Given the description of an element on the screen output the (x, y) to click on. 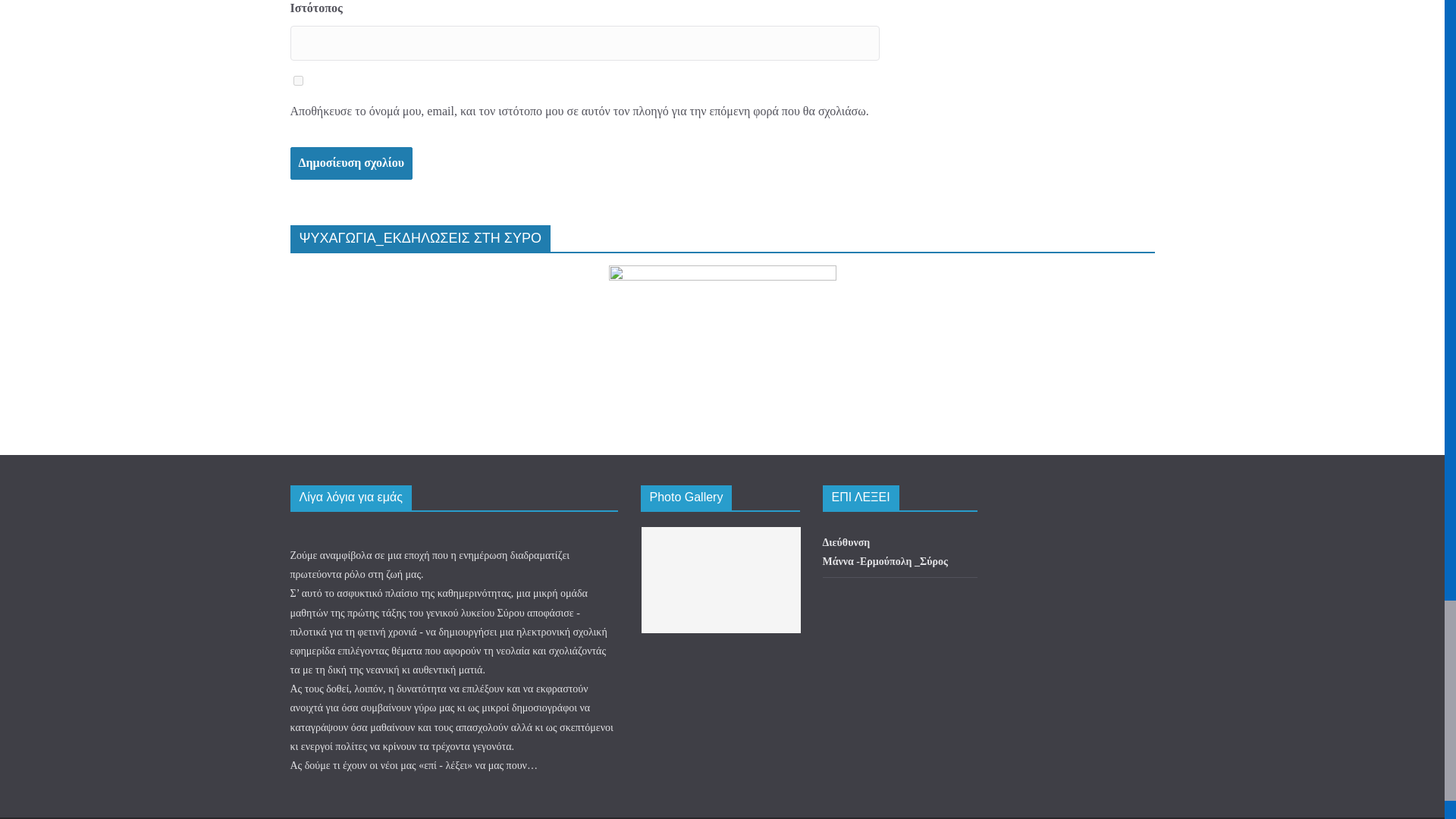
yes (297, 80)
